Given the description of an element on the screen output the (x, y) to click on. 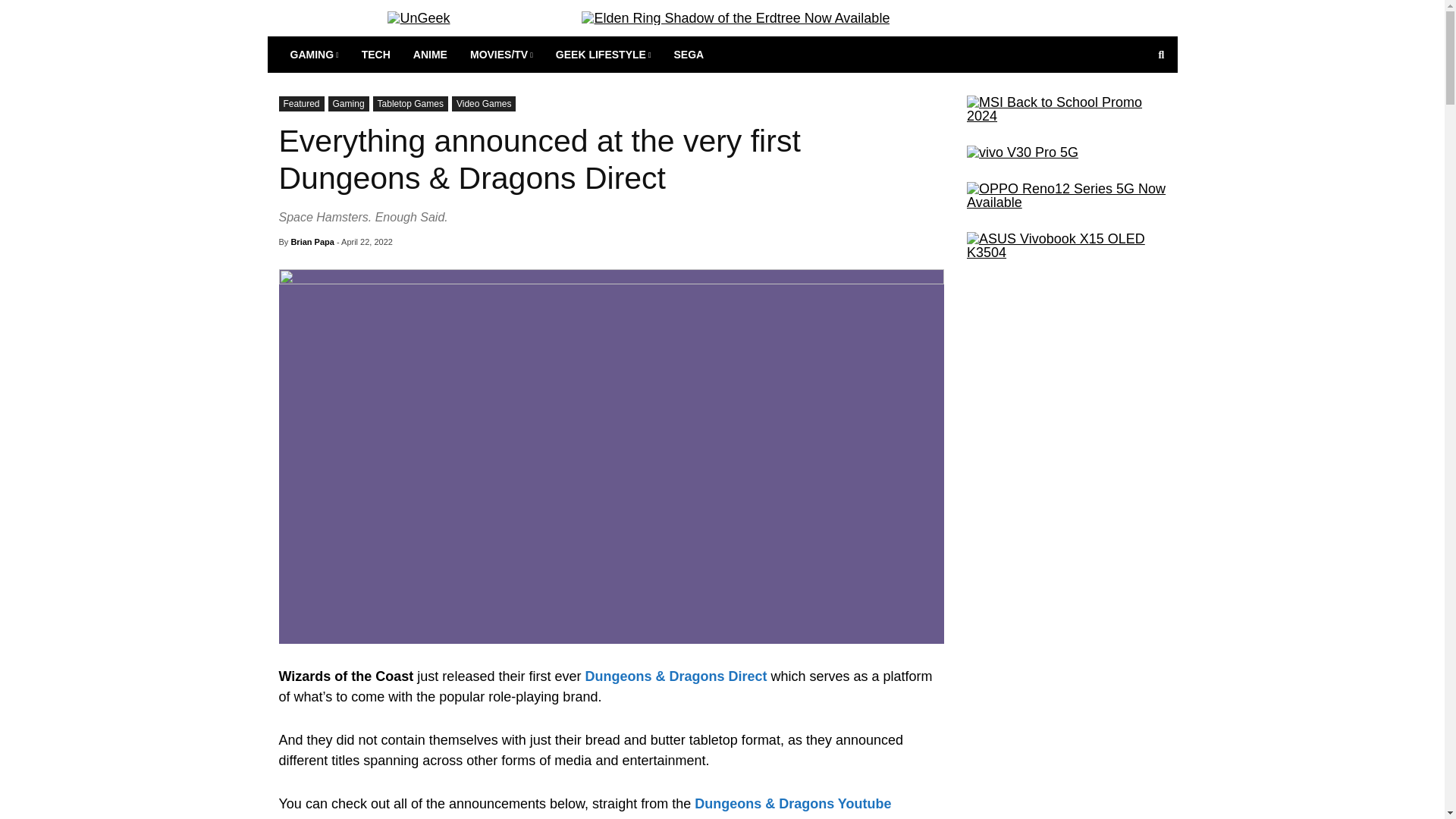
Featured (301, 103)
Video Games (483, 103)
April 22, 2022 (366, 241)
TECH (375, 54)
UnGeek (418, 18)
SEGA (689, 54)
Tabletop Games (410, 103)
GEEK LIFESTYLE (603, 54)
ANIME (429, 54)
Posts by Brian Papa (311, 241)
